Given the description of an element on the screen output the (x, y) to click on. 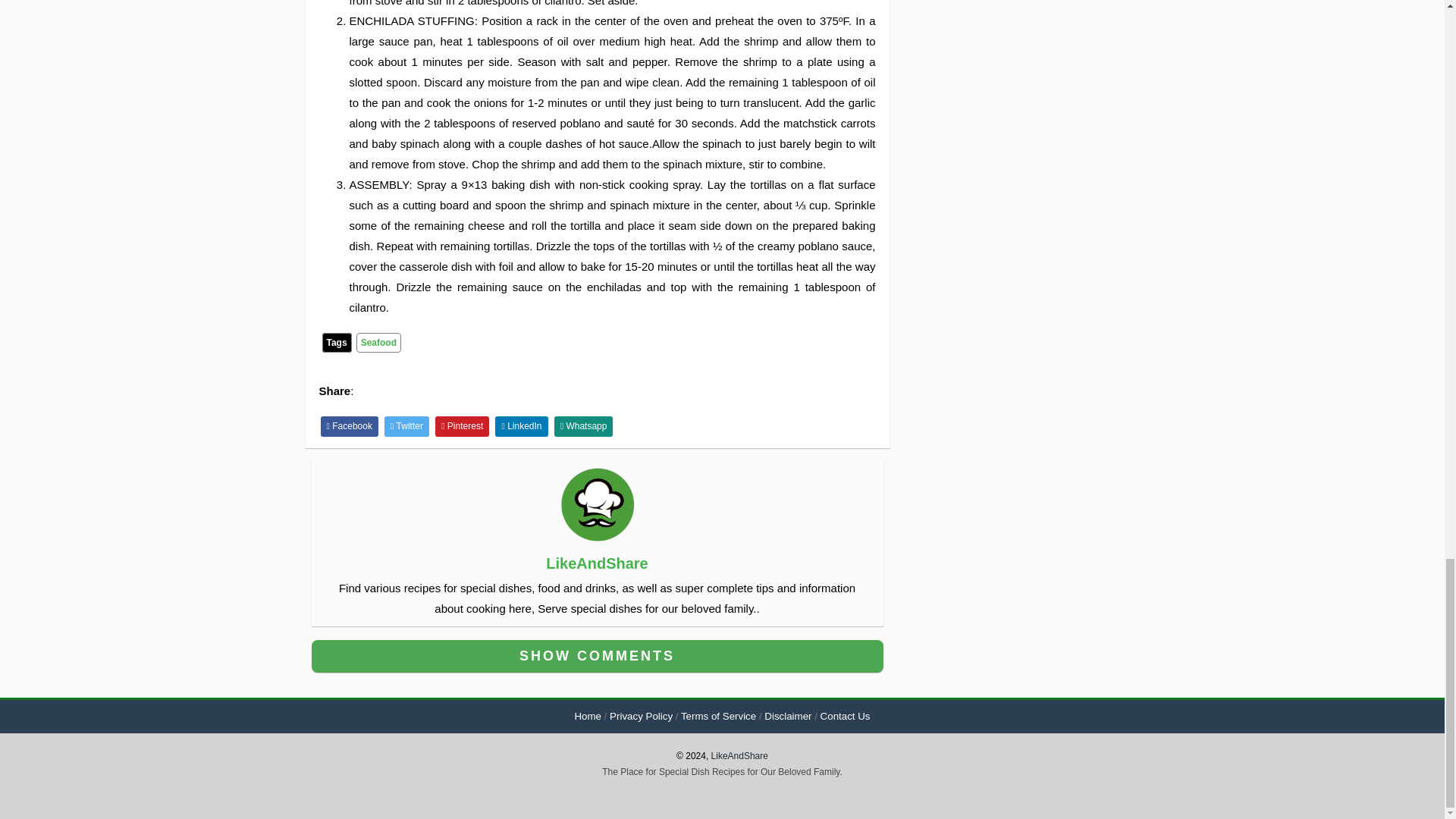
LikeAndShare (739, 756)
LikeAndShare (596, 563)
Seafood (378, 342)
Privacy Policy (641, 715)
Terms of Service (718, 715)
Home (587, 715)
Contact Us (845, 715)
Disclaimer (787, 715)
